Given the description of an element on the screen output the (x, y) to click on. 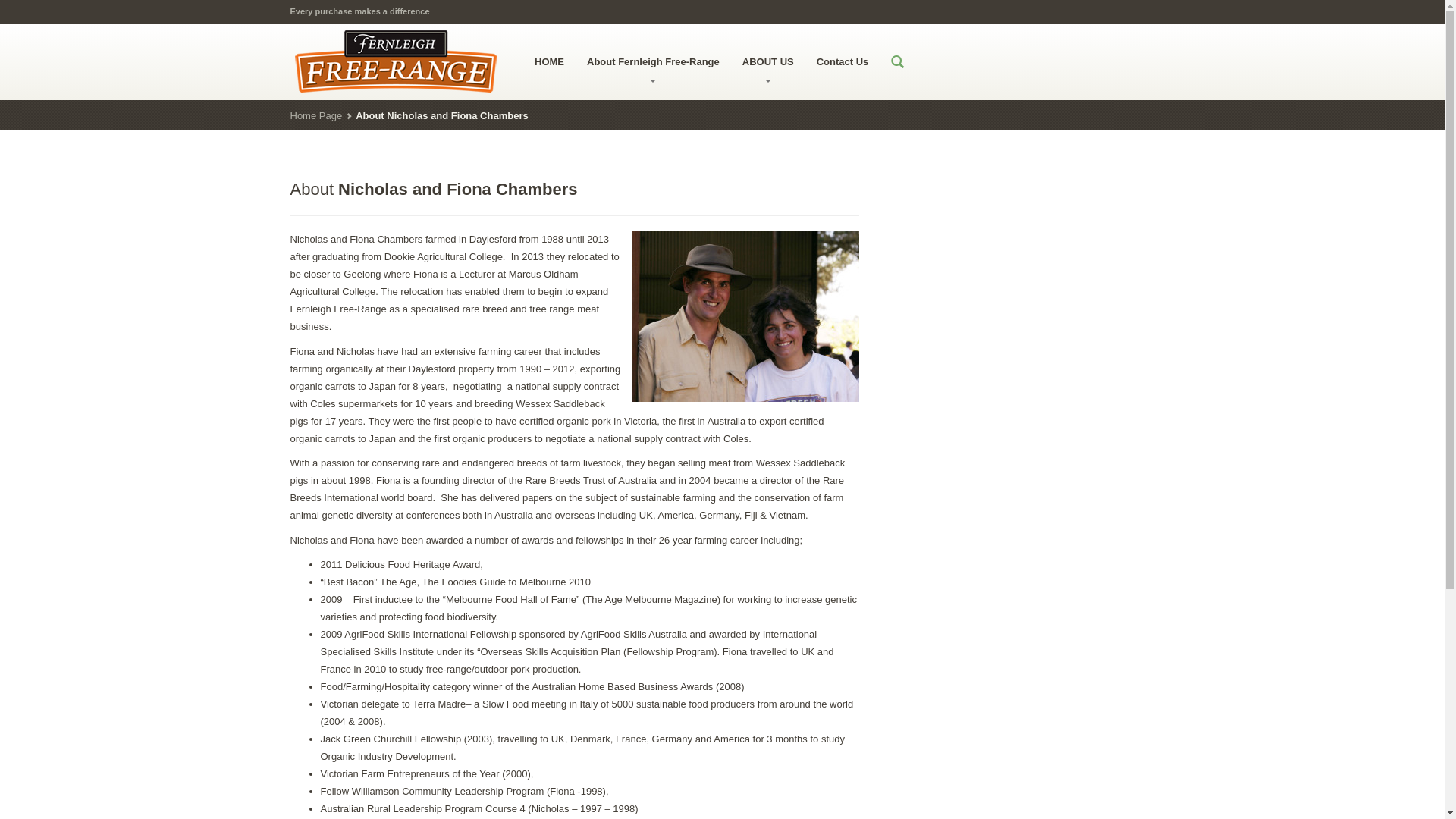
Home Page Element type: text (315, 114)
ABOUT US Element type: text (768, 60)
HOME Element type: text (549, 60)
About Nicholas and Fiona Chambers Element type: text (433, 188)
Contact Us Element type: text (842, 60)
About Fernleigh Free-Range Element type: text (653, 60)
